Given the description of an element on the screen output the (x, y) to click on. 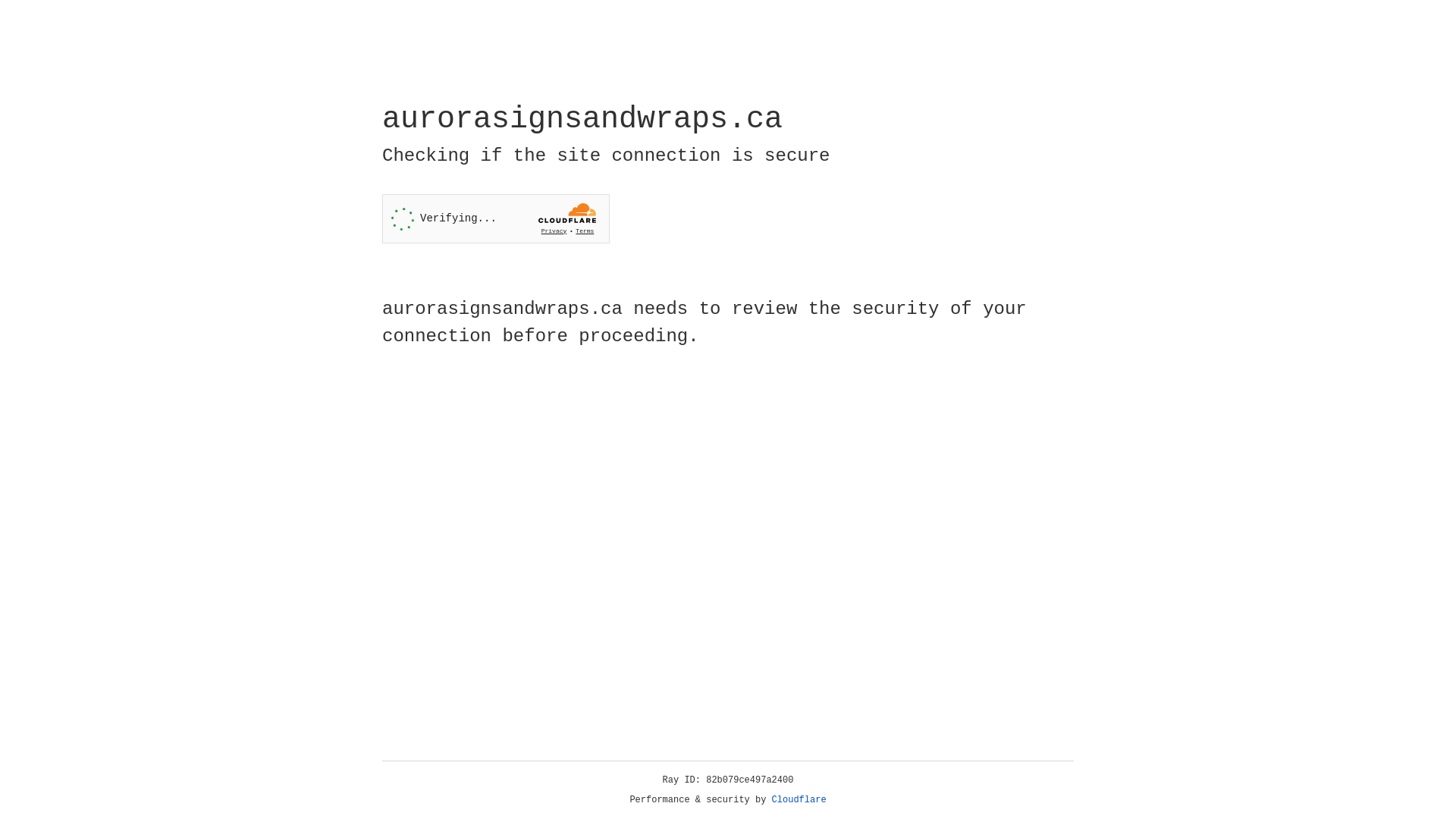
Cloudflare Element type: text (798, 799)
Widget containing a Cloudflare security challenge Element type: hover (495, 218)
